Given the description of an element on the screen output the (x, y) to click on. 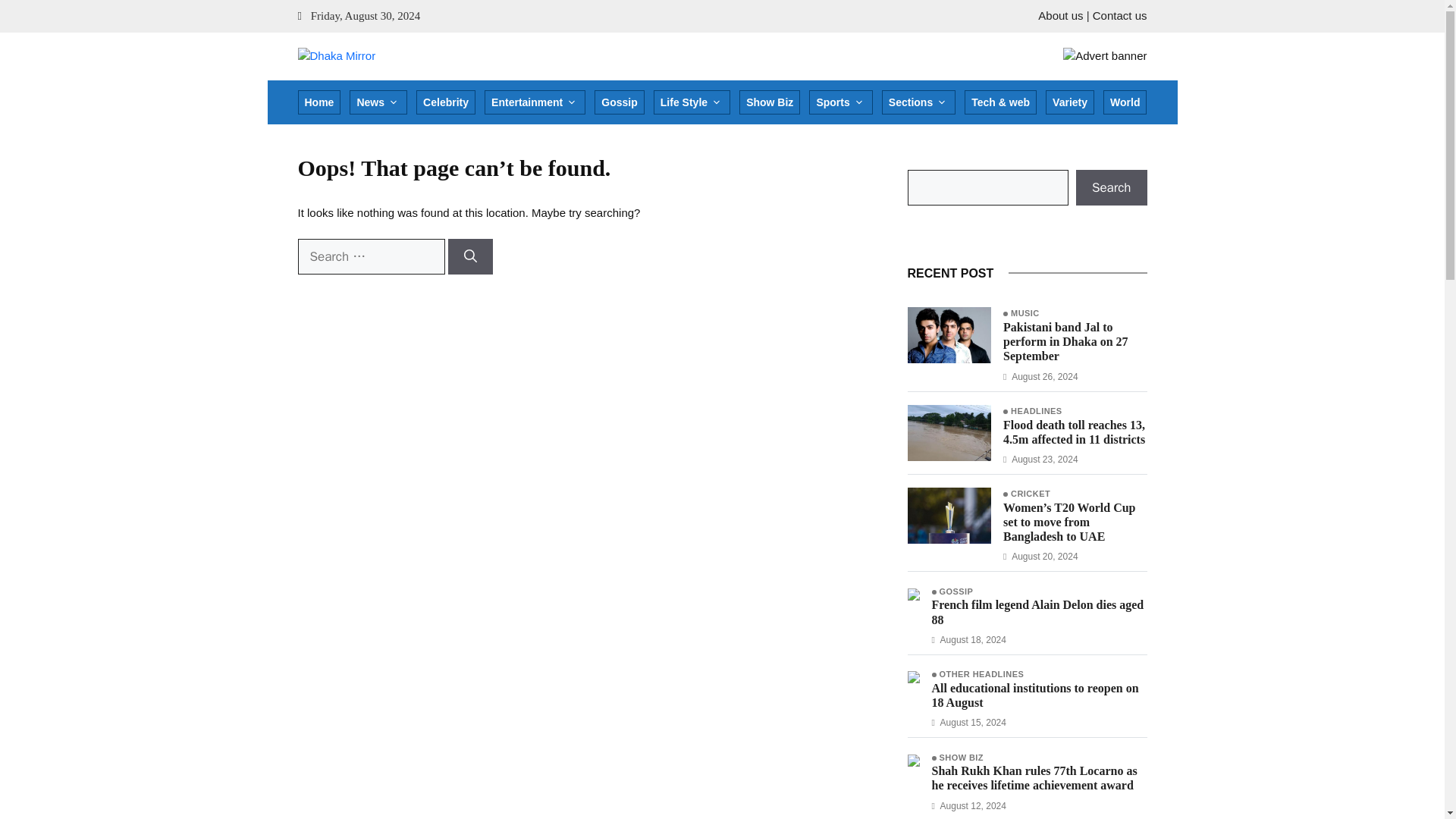
About us (1060, 15)
Entertainment (534, 102)
Search for: (370, 257)
Sports (840, 102)
Home (318, 102)
Celebrity (446, 102)
News (378, 102)
Contact us (1120, 15)
Gossip (618, 102)
Sections (918, 102)
